Given the description of an element on the screen output the (x, y) to click on. 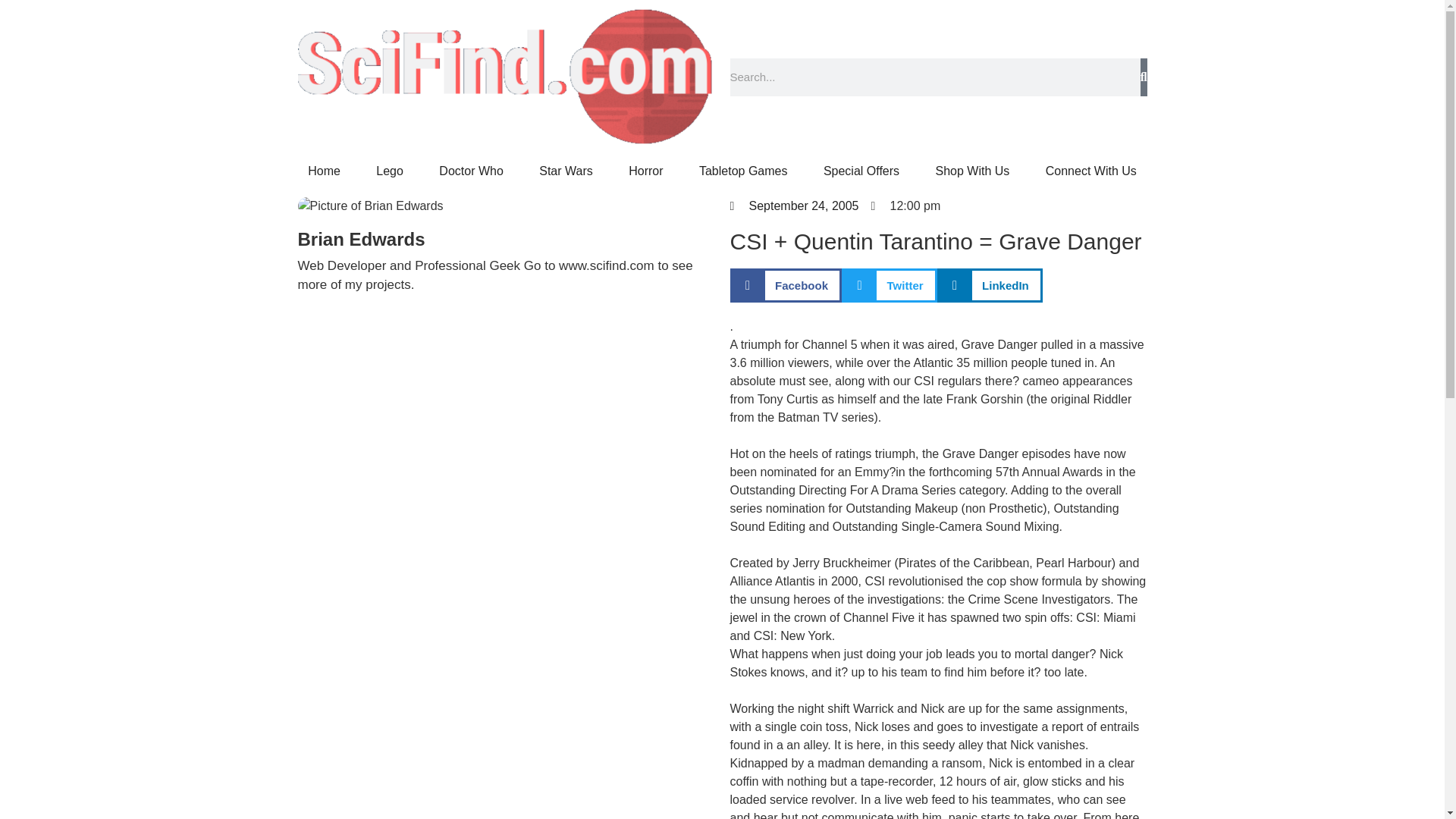
Home (323, 171)
Shop With Us (972, 171)
Tabletop Games (743, 171)
Star Wars (566, 171)
Horror (645, 171)
September 24, 2005 (794, 206)
Connect With Us (1090, 171)
Special Offers (861, 171)
Lego (390, 171)
Doctor Who (471, 171)
